Given the description of an element on the screen output the (x, y) to click on. 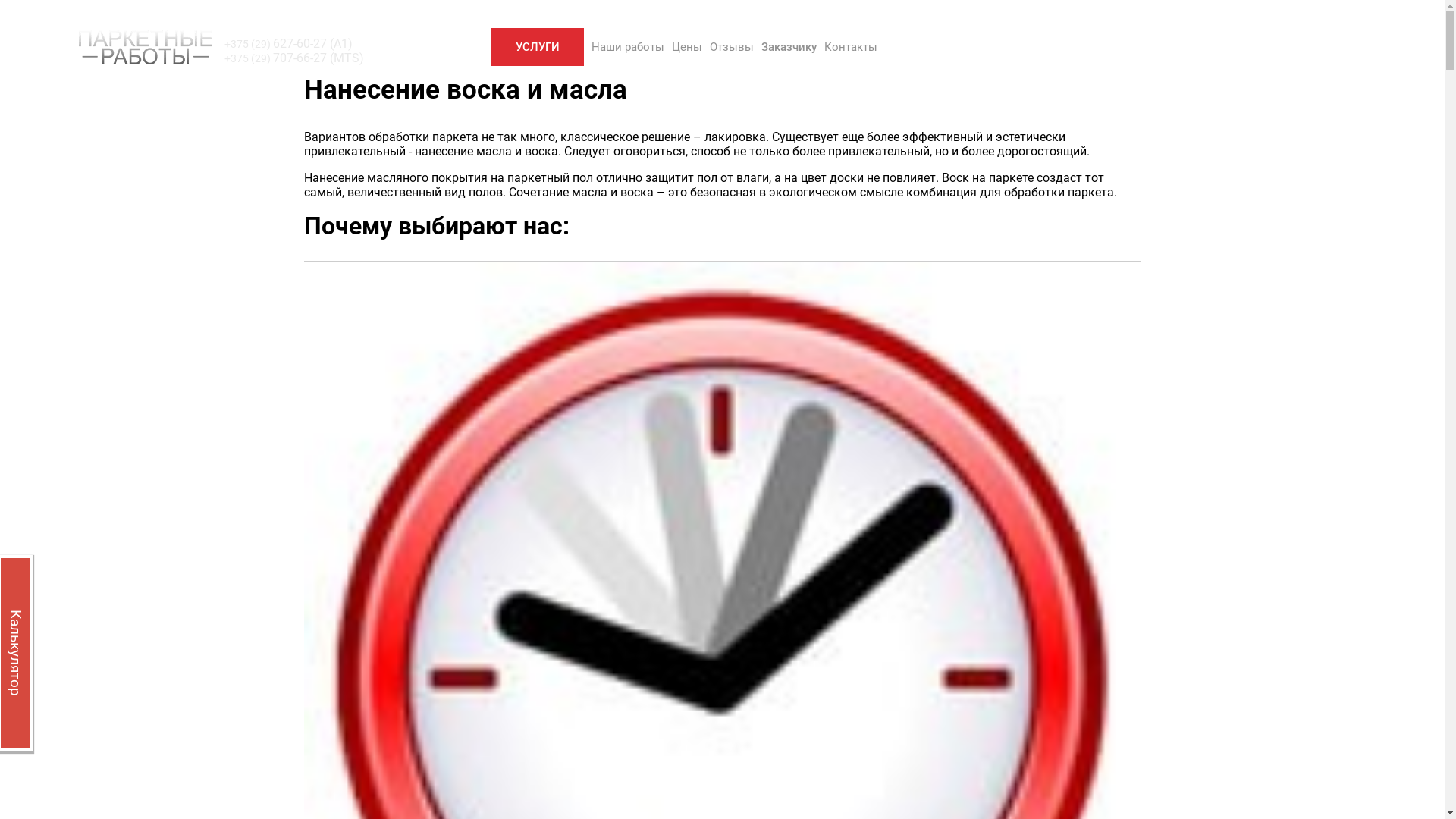
+375 (29) 707-66-27 (MTS) Element type: text (294, 57)
+375 (29) 627-60-27 (A1) Element type: text (294, 43)
